Given the description of an element on the screen output the (x, y) to click on. 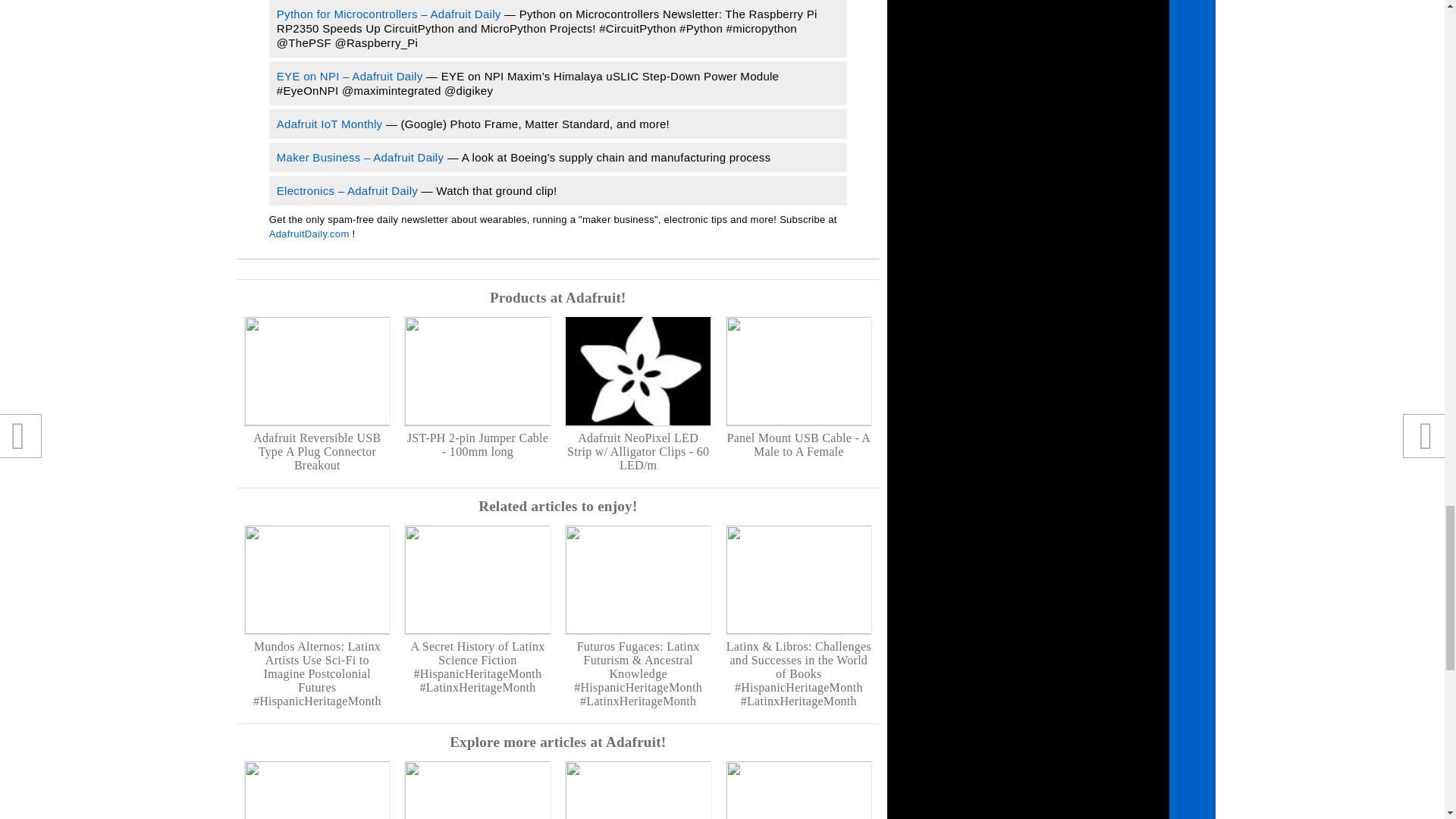
Panel Mount USB Cable - A Male to A Female (798, 387)
Adafruit Reversible USB Type A Plug Connector Breakout (317, 394)
JST-PH 2-pin Jumper Cable - 100mm long (477, 387)
